Given the description of an element on the screen output the (x, y) to click on. 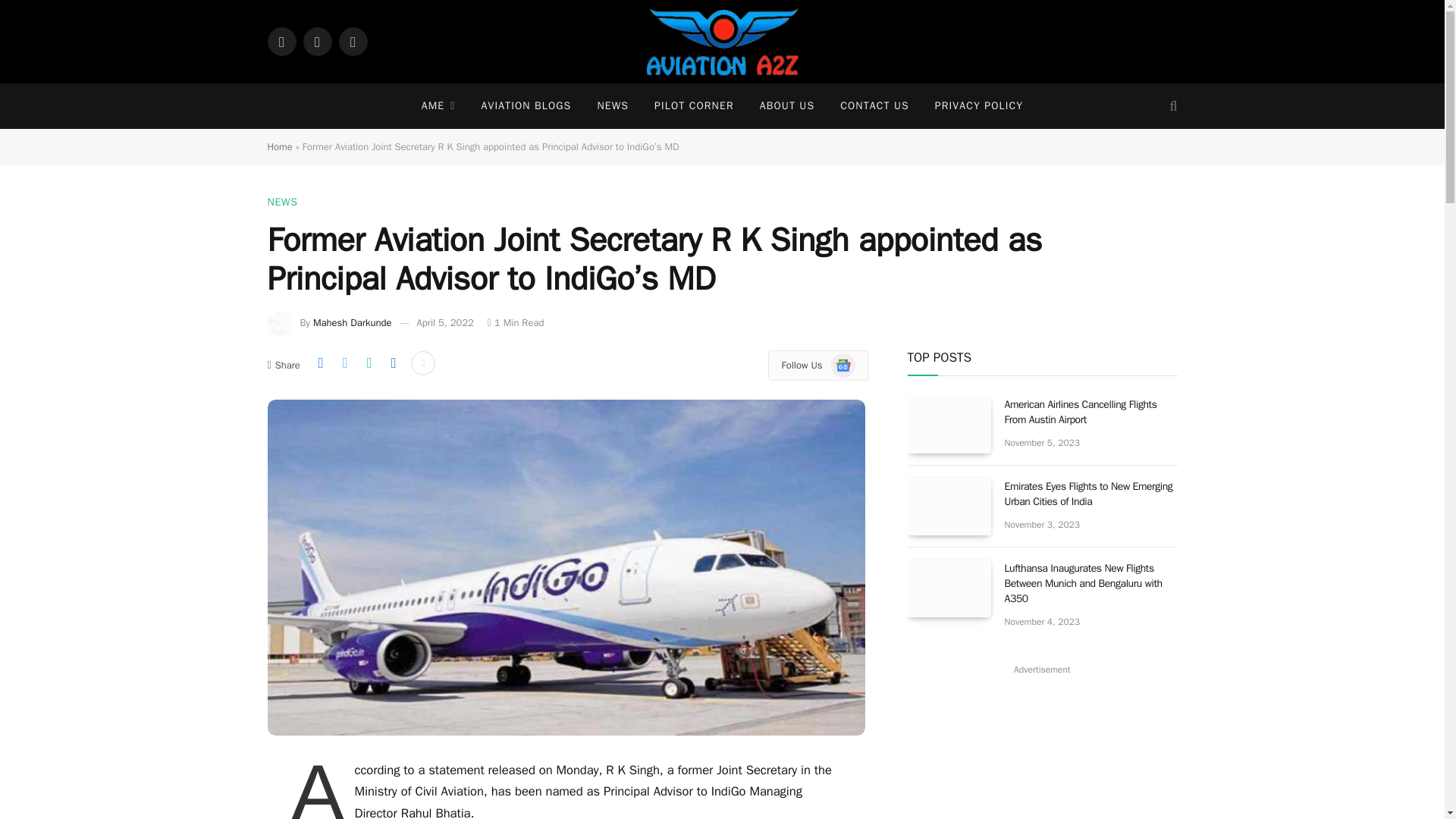
Share on LinkedIn (392, 363)
Show More Social Sharing (422, 363)
Share on WhatsApp (369, 363)
ABOUT US (786, 105)
CONTACT US (874, 105)
NEWS (281, 201)
NEWS (612, 105)
PRIVACY POLICY (978, 105)
Posts by Mahesh Darkunde (352, 322)
Mahesh Darkunde (352, 322)
Share on Facebook (319, 363)
AVIATION BLOGS (525, 105)
PILOT CORNER (694, 105)
Search (1171, 106)
Instagram (351, 41)
